Given the description of an element on the screen output the (x, y) to click on. 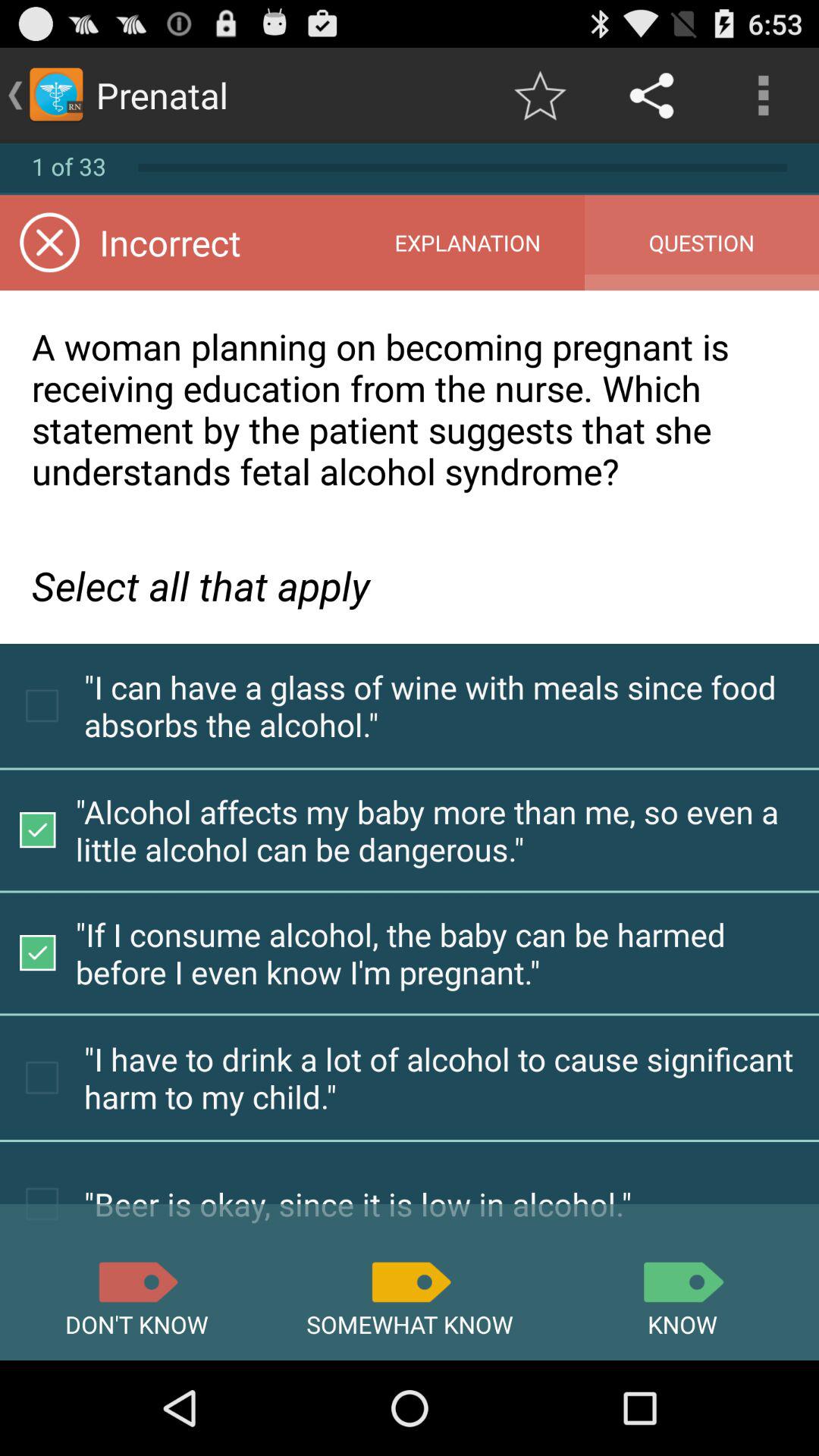
press the explanation icon (467, 242)
